Given the description of an element on the screen output the (x, y) to click on. 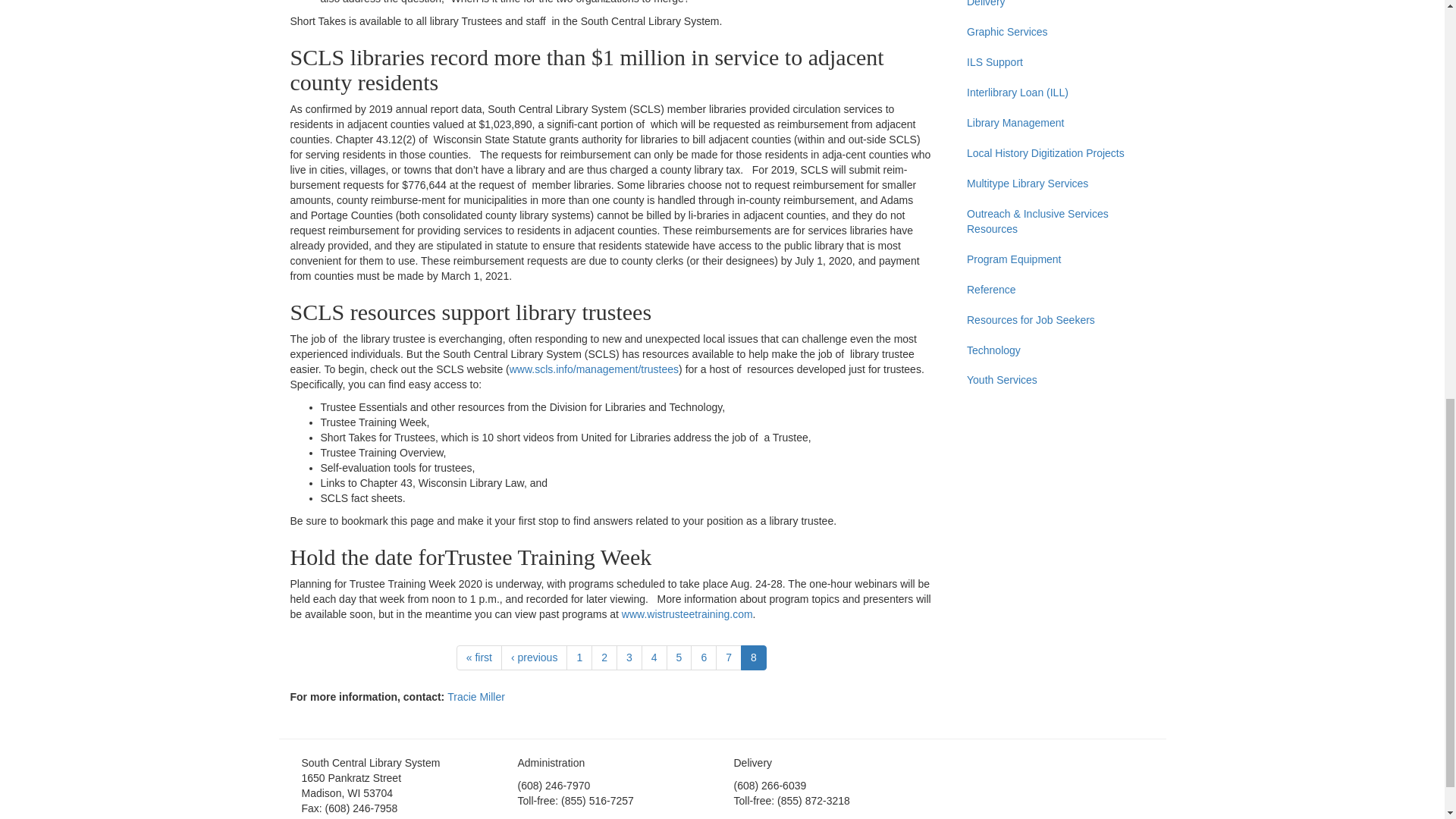
Go to page 5 (679, 657)
Go to page 3 (628, 657)
Go to previous page (533, 657)
Go to page 4 (654, 657)
Go to page 2 (604, 657)
Go to first page (479, 657)
Go to page 1 (579, 657)
Go to page 7 (728, 657)
Go to page 6 (703, 657)
